Given the description of an element on the screen output the (x, y) to click on. 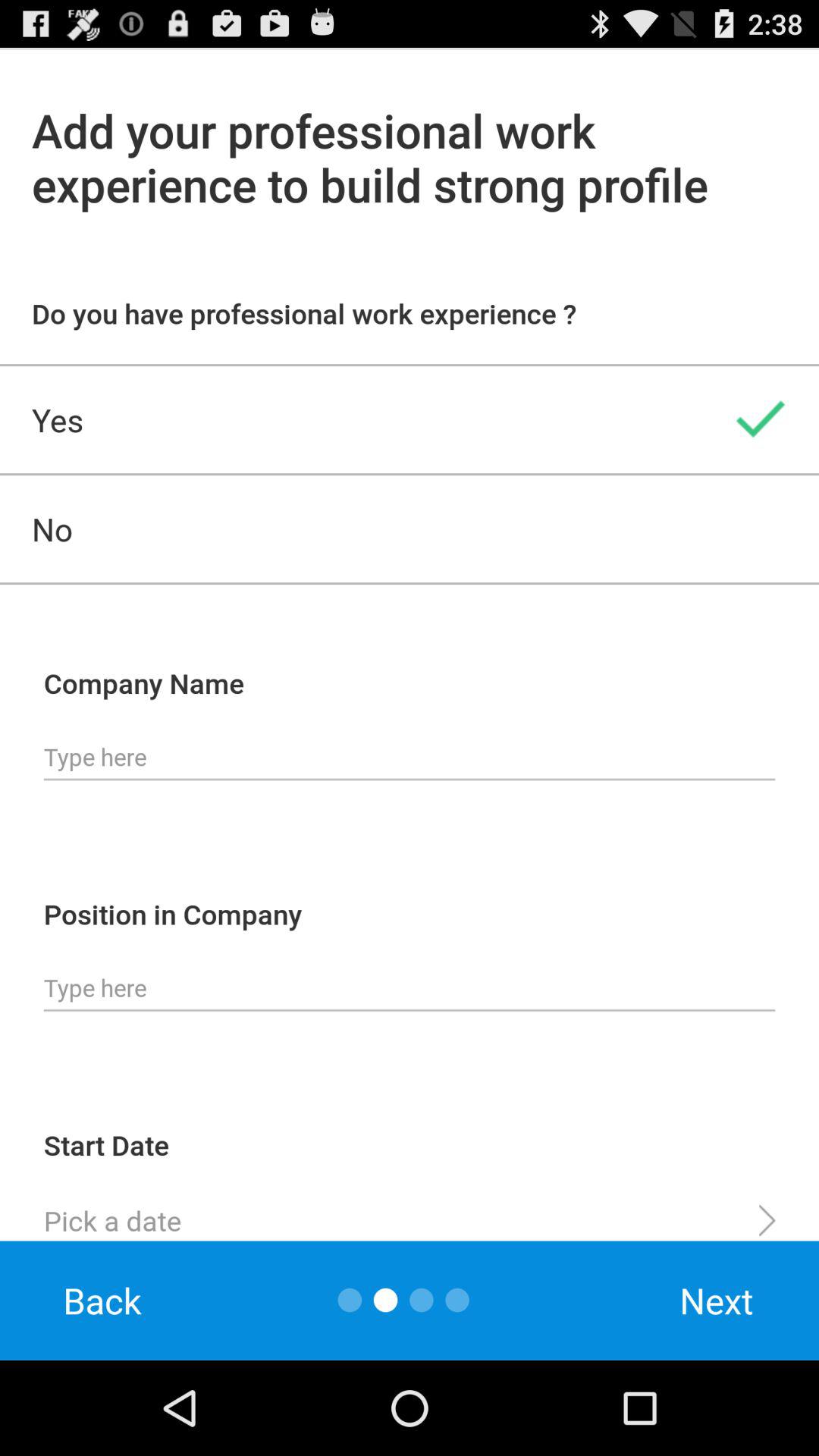
jump until back item (102, 1300)
